Given the description of an element on the screen output the (x, y) to click on. 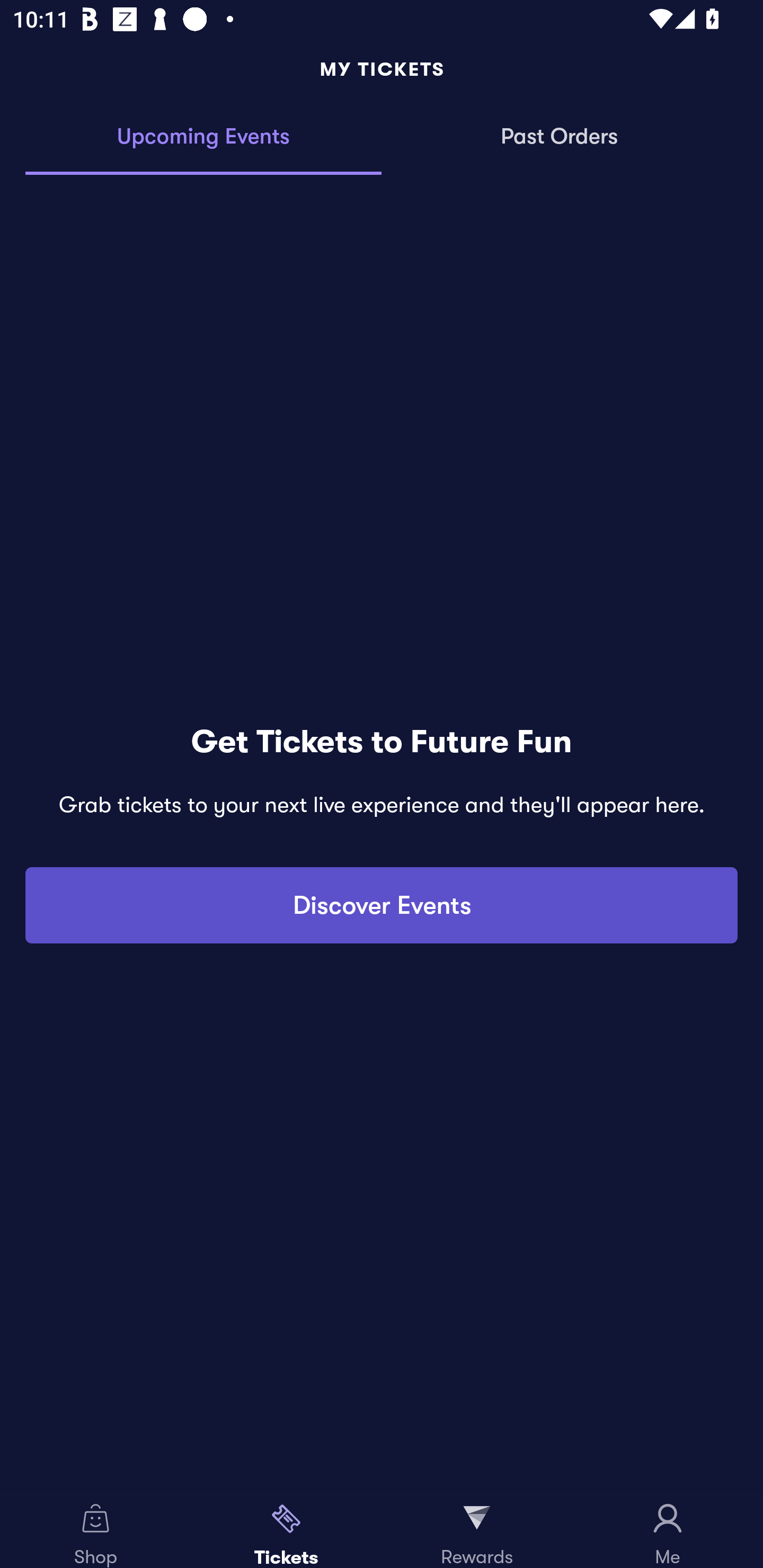
Upcoming Events (203, 137)
Past Orders (559, 137)
Discover Events (381, 905)
Shop (95, 1529)
Tickets (285, 1529)
Rewards (476, 1529)
Me (667, 1529)
